Given the description of an element on the screen output the (x, y) to click on. 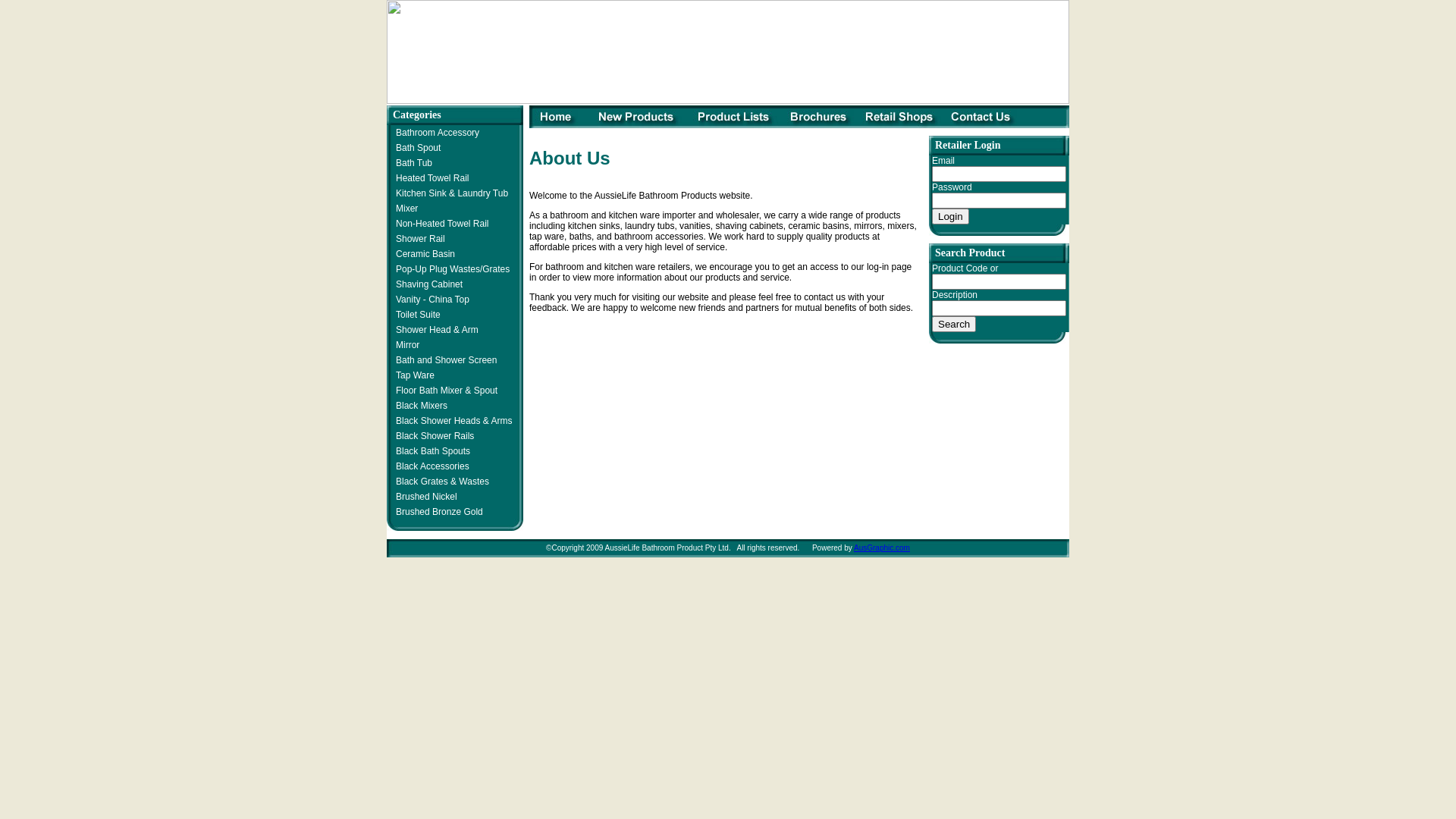
Bath Tub Element type: text (412, 162)
Shower Rail Element type: text (418, 238)
Black Bath Spouts Element type: text (431, 450)
Mixer Element type: text (404, 208)
Search Element type: text (953, 324)
Mirror Element type: text (405, 344)
Bathroom Accessory Element type: text (435, 132)
AusGraphic.com Element type: text (881, 547)
Brushed Bronze Gold Element type: text (437, 511)
Floor Bath Mixer & Spout Element type: text (444, 390)
Bath and Shower Screen Element type: text (444, 359)
Vanity - China Top Element type: text (430, 299)
Kitchen Sink & Laundry Tub Element type: text (450, 193)
Black Mixers Element type: text (419, 405)
Non-Heated Towel Rail Element type: text (440, 223)
Bath Spout Element type: text (416, 147)
Black Shower Heads & Arms Element type: text (451, 420)
Brushed Nickel Element type: text (424, 496)
Toilet Suite Element type: text (416, 314)
Black Shower Rails Element type: text (432, 435)
Pop-Up Plug Wastes/Grates Element type: text (450, 268)
Ceramic Basin Element type: text (423, 253)
Shaving Cabinet Element type: text (427, 284)
Login Element type: text (950, 216)
Shower Head & Arm Element type: text (435, 329)
Heated Towel Rail Element type: text (430, 177)
Black Grates & Wastes Element type: text (440, 481)
Black Accessories Element type: text (430, 466)
Tap Ware Element type: text (413, 375)
